Given the description of an element on the screen output the (x, y) to click on. 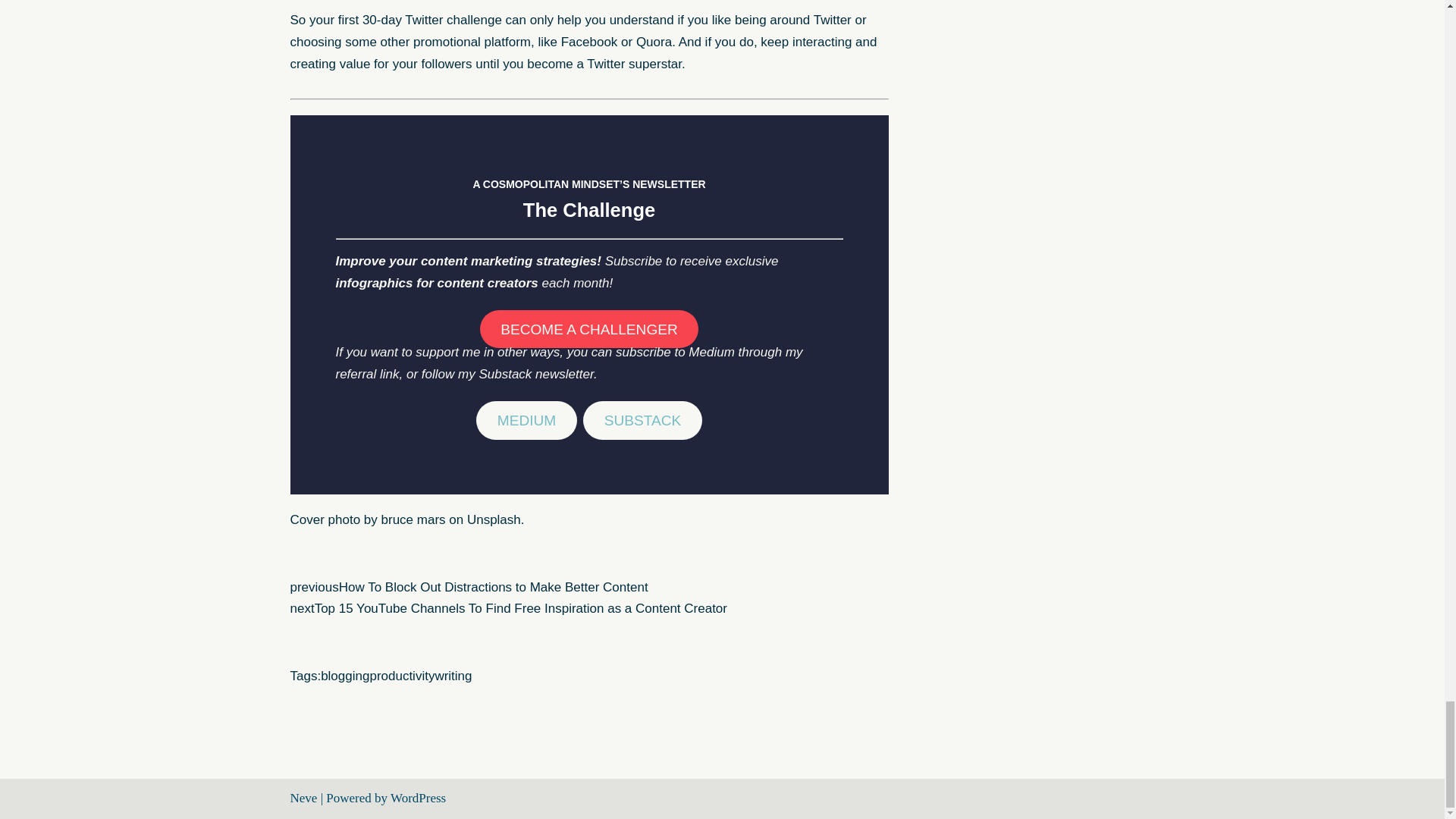
writing (452, 676)
blogging (344, 676)
Unsplash (494, 519)
bruce mars (413, 519)
SUBSTACK (642, 420)
BECOME A CHALLENGER (589, 329)
MEDIUM (526, 420)
previousHow To Block Out Distractions to Make Better Content (468, 586)
productivity (401, 676)
productivity (401, 676)
blogging (344, 676)
